Given the description of an element on the screen output the (x, y) to click on. 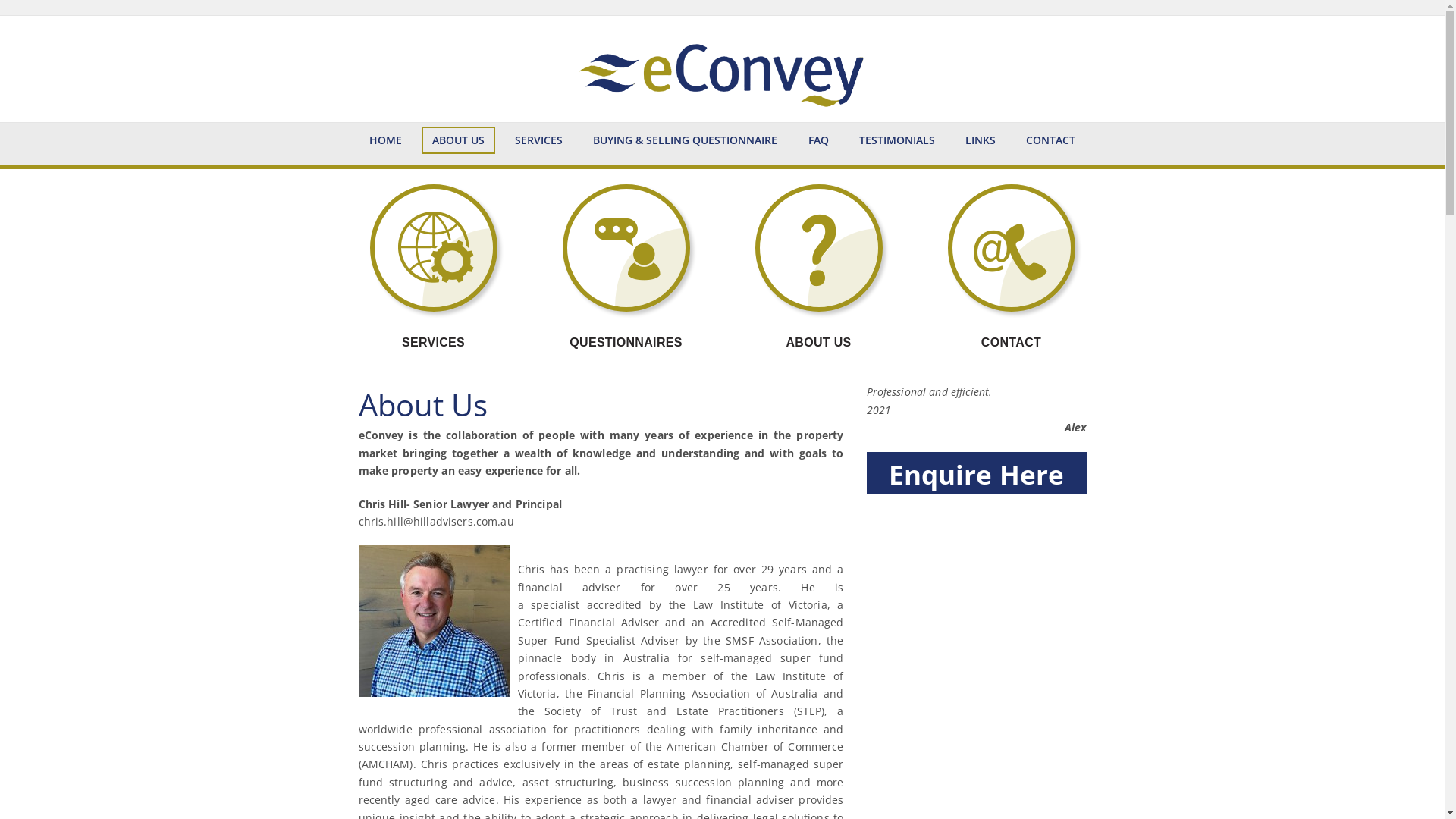
eConvey Element type: text (721, 68)
FAQ Element type: text (818, 139)
HOME Element type: text (384, 139)
Enquire Here Element type: text (975, 473)
LINKS Element type: text (980, 139)
SERVICES Element type: text (538, 139)
CONTACT Element type: text (1050, 139)
TESTIMONIALS Element type: text (896, 139)
ABOUT US Element type: text (458, 139)
BUYING & SELLING QUESTIONNAIRE Element type: text (684, 139)
